Given the description of an element on the screen output the (x, y) to click on. 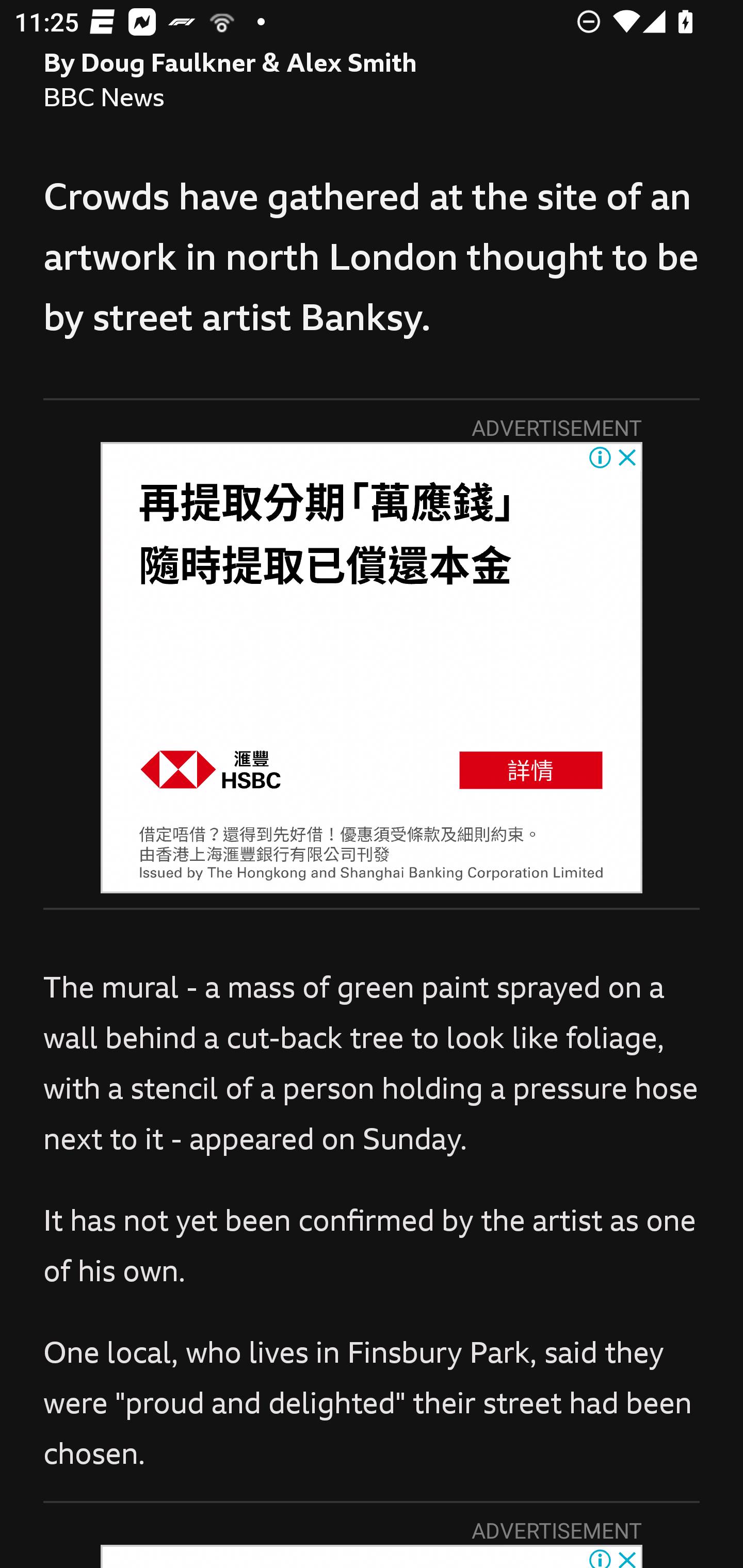
300x250 (371, 667)
